Given the description of an element on the screen output the (x, y) to click on. 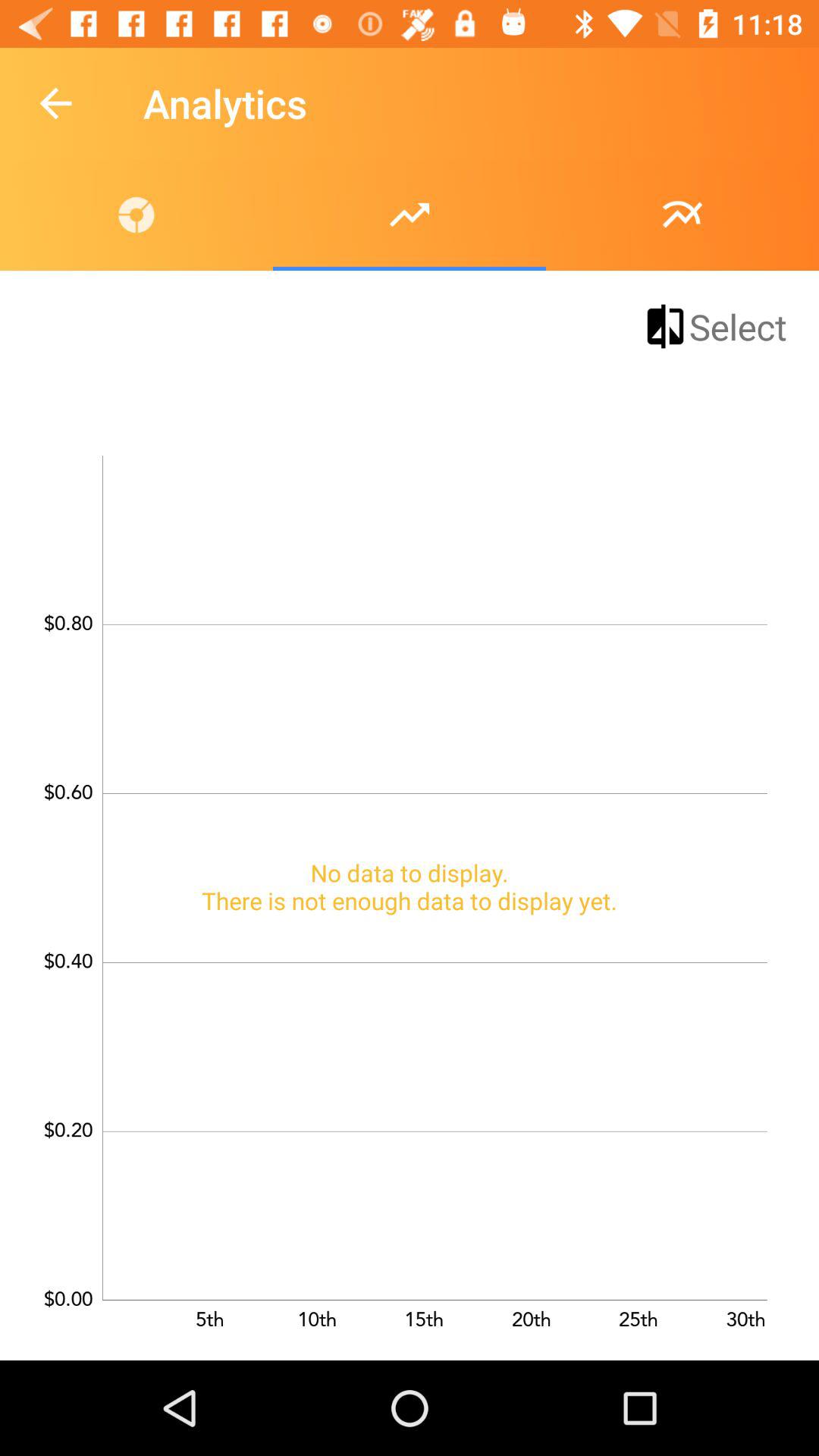
tap the icon next to analytics (55, 103)
